Given the description of an element on the screen output the (x, y) to click on. 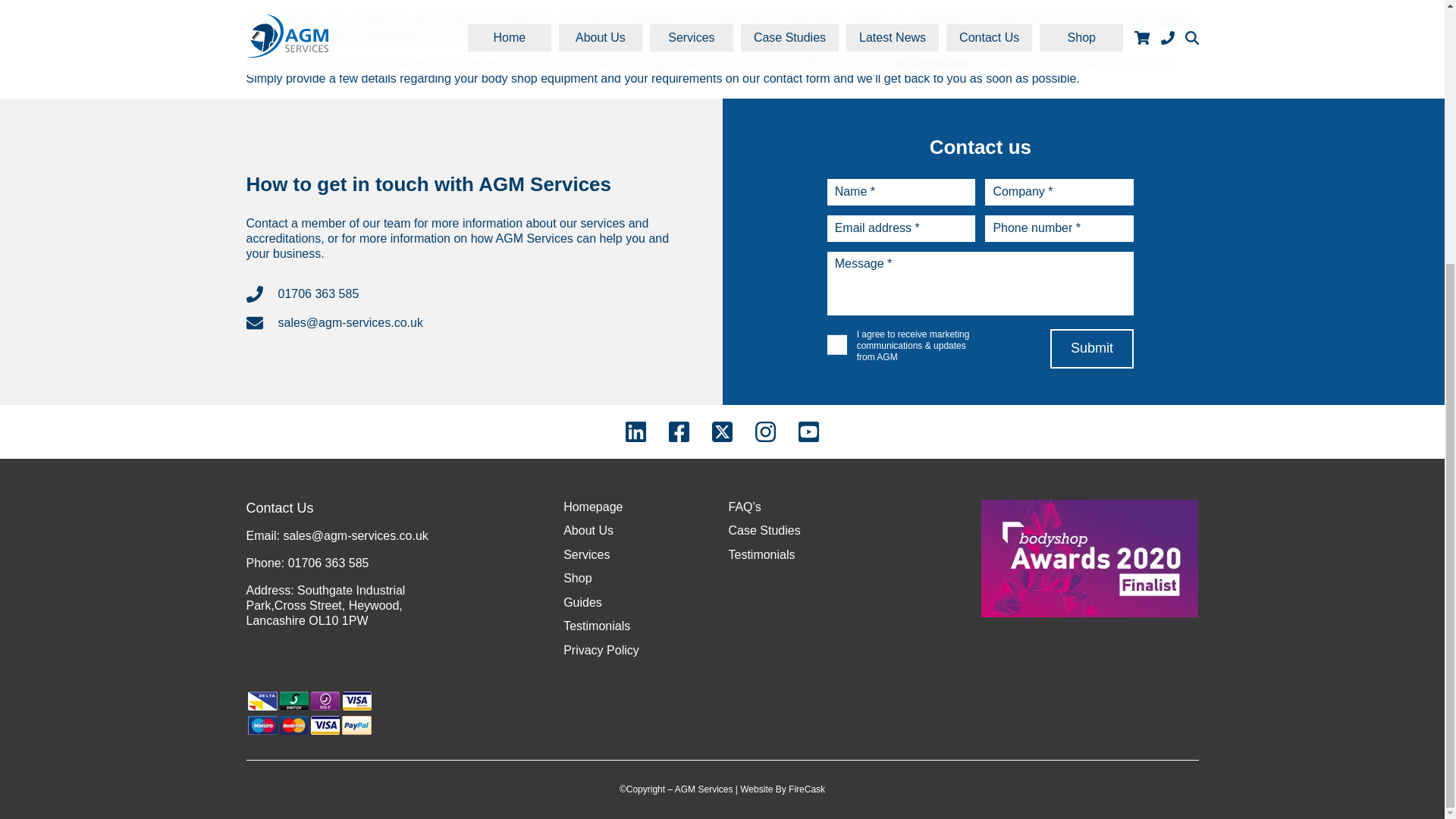
01706 363 585 (465, 293)
01705 363585 (933, 62)
1 (837, 344)
Submit (1091, 348)
